Given the description of an element on the screen output the (x, y) to click on. 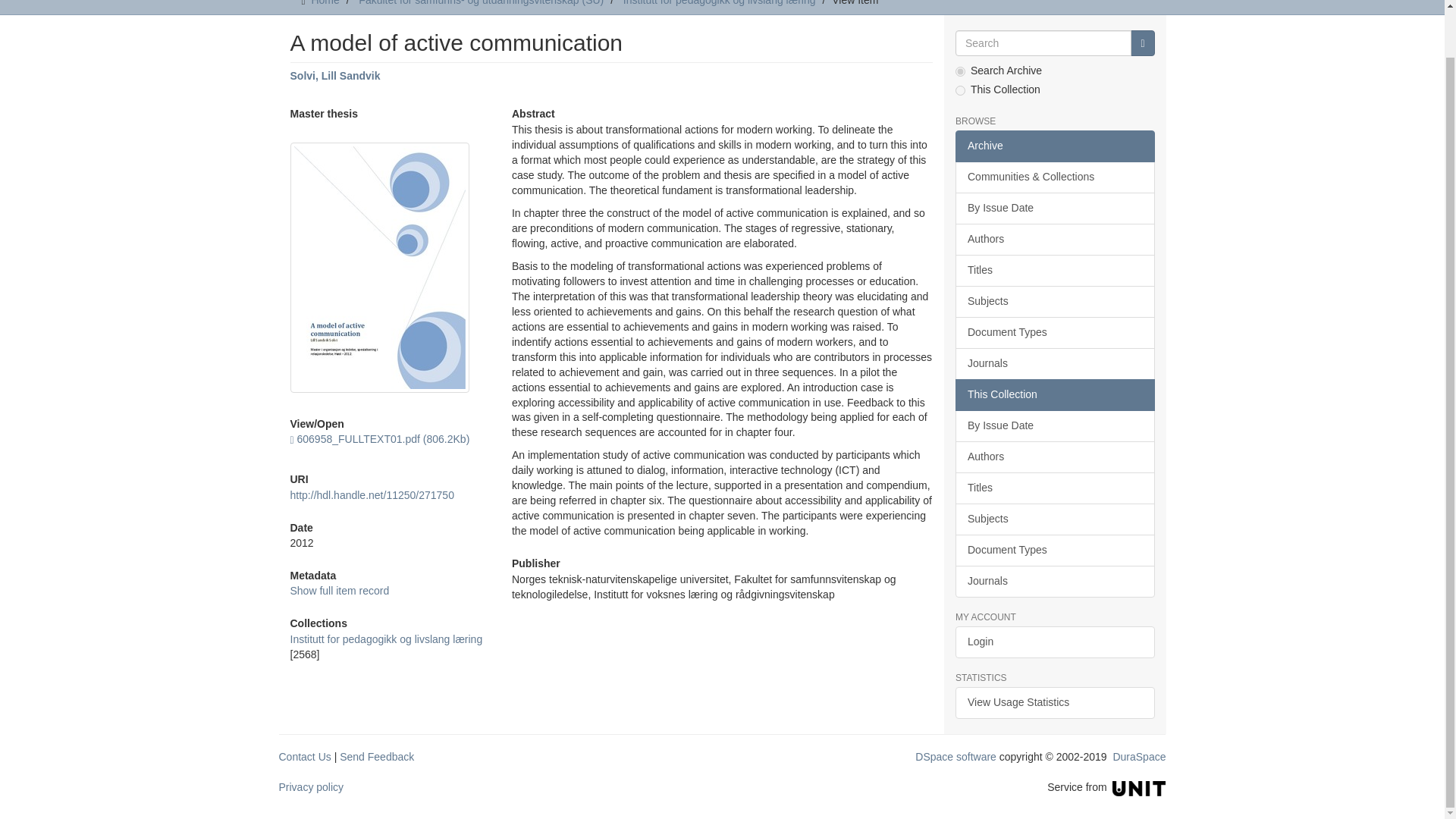
Titles (1054, 270)
Home (325, 2)
Solvi, Lill Sandvik (334, 75)
Subjects (1054, 301)
Show full item record (338, 590)
Unit (1139, 787)
Journals (1054, 364)
By Issue Date (1054, 208)
Go (1142, 43)
Archive (1054, 146)
Authors (1054, 239)
Document Types (1054, 332)
